Given the description of an element on the screen output the (x, y) to click on. 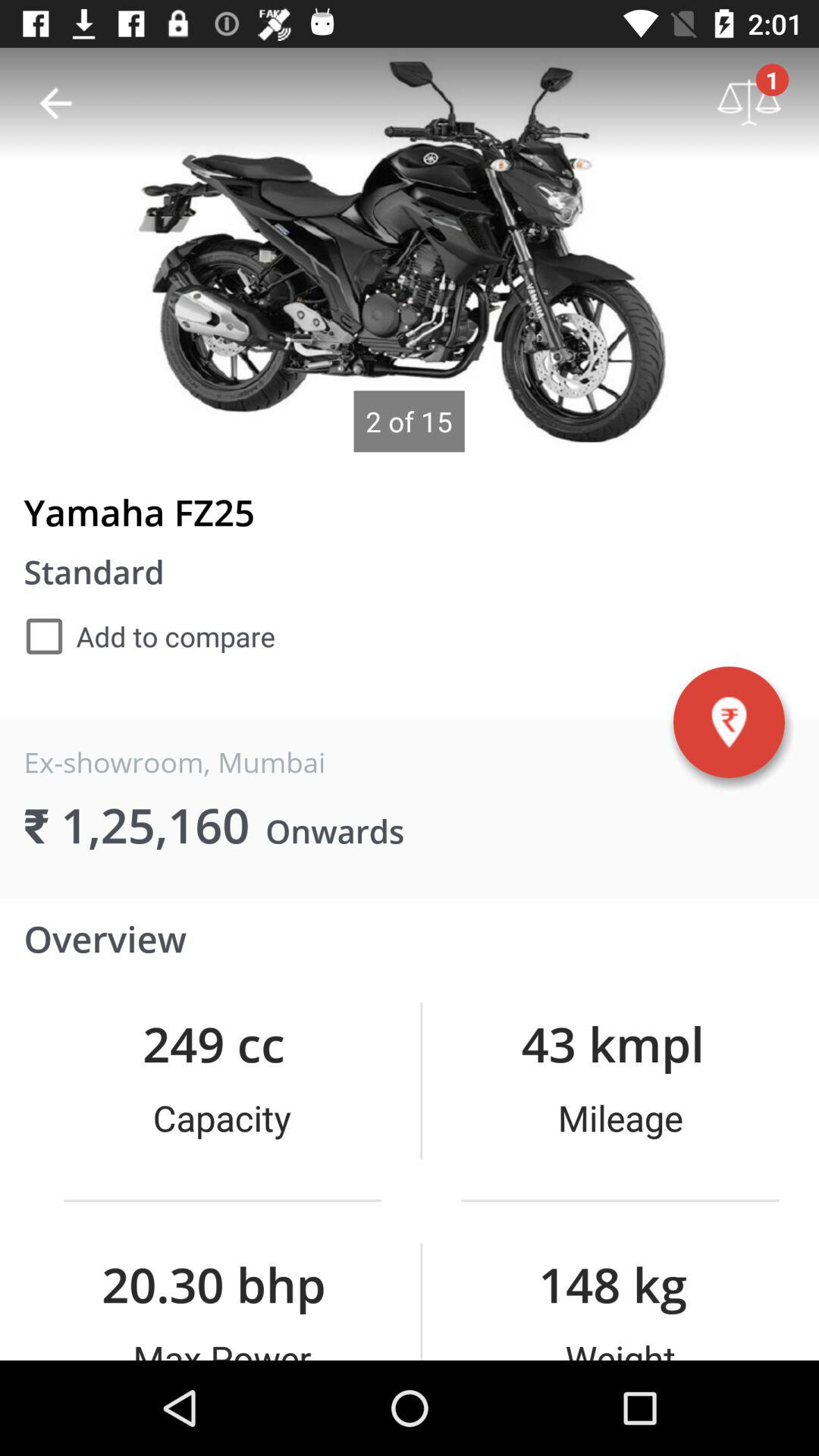
warning (729, 722)
